Given the description of an element on the screen output the (x, y) to click on. 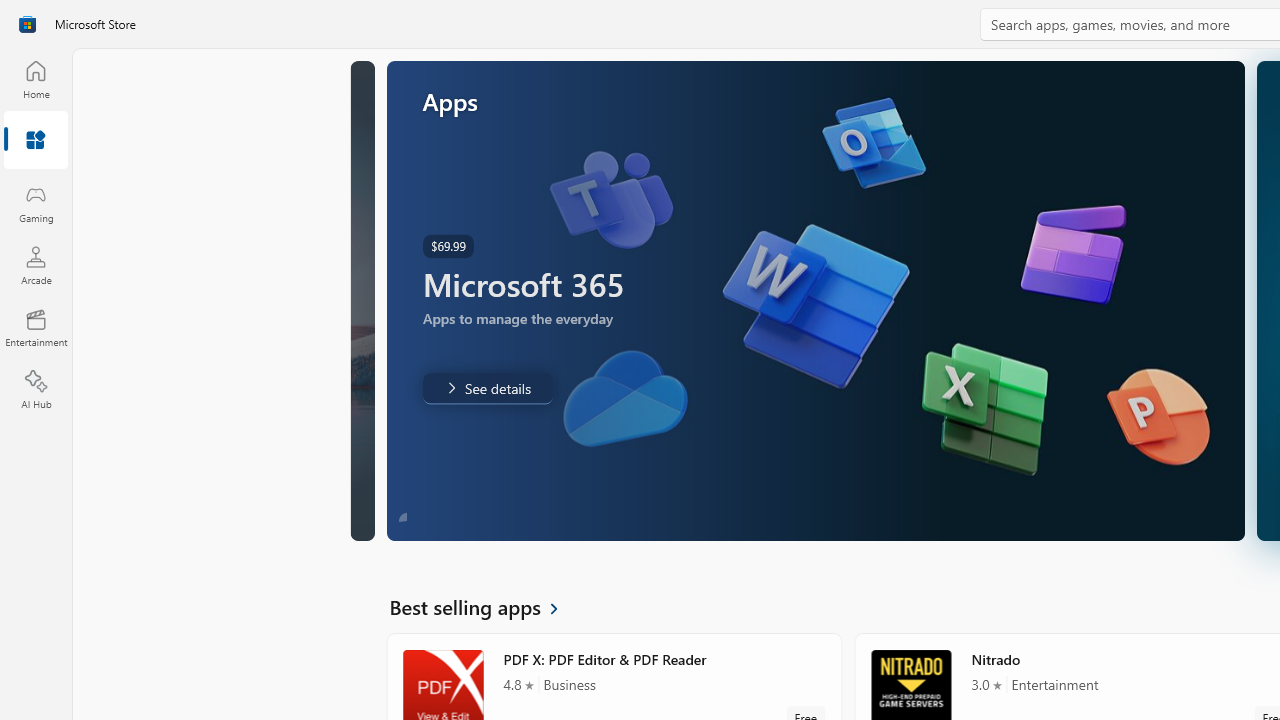
ibis Paint. Average rating of 3.9 out of five stars. Free   (730, 548)
Canva. Average rating of 4.8 out of five stars. Free   (497, 548)
See all  Photo and video editing apps (481, 223)
Class: Image (27, 24)
CapCut. Average rating of 4.7 out of five stars. Free   (1134, 194)
Arcade (35, 265)
AI Hub (35, 390)
Apps (35, 141)
Gaming (35, 203)
Home (35, 79)
Entertainment (35, 327)
See all  Creativity apps (477, 410)
